Given the description of an element on the screen output the (x, y) to click on. 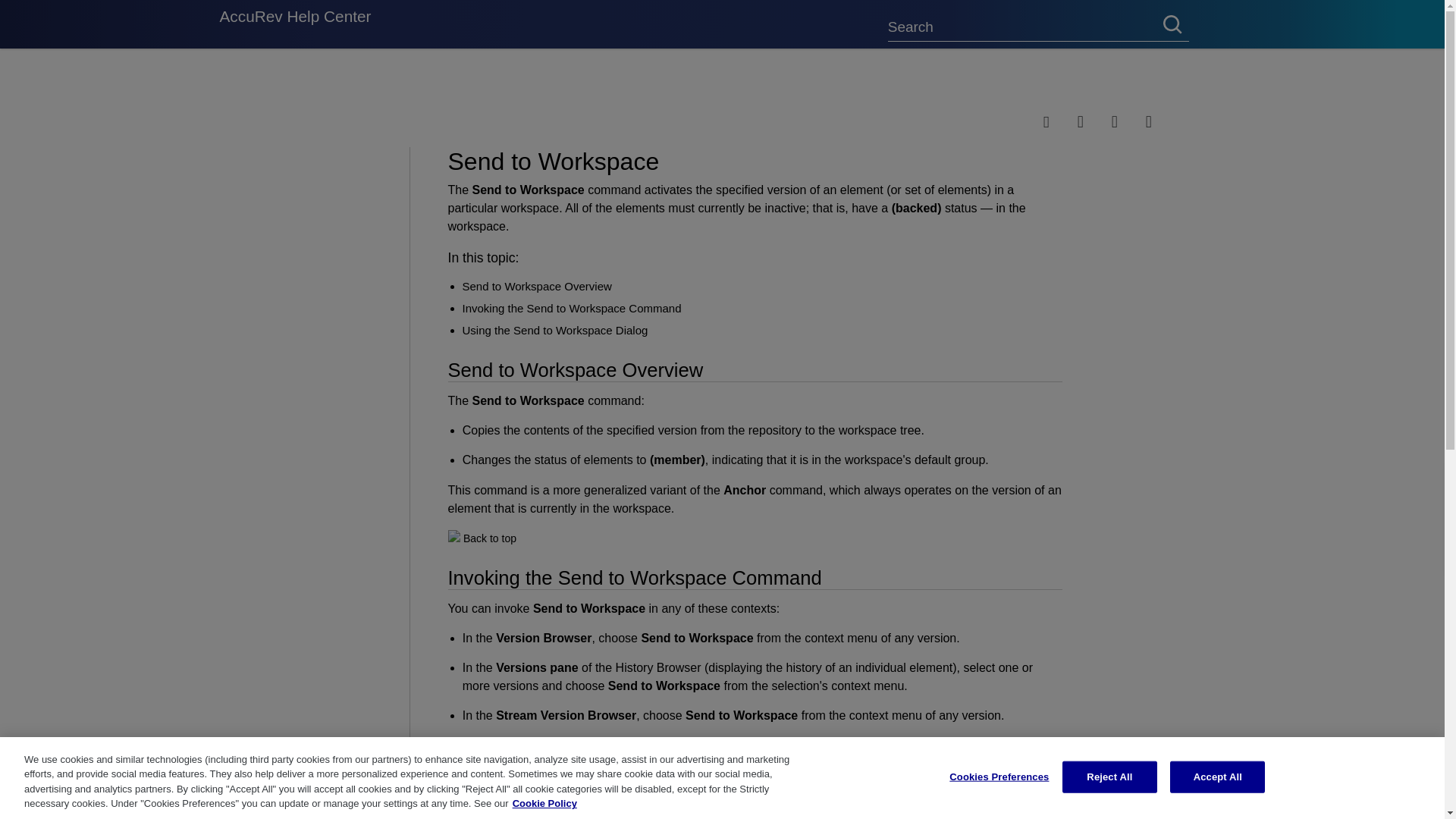
AccuRev Help Center (295, 24)
Print the current topic (1162, 121)
Back to top (489, 538)
Using the Send to Workspace Dialog (555, 329)
Expand all dropdowns (1094, 121)
All versions (249, 83)
Share page (1060, 121)
Send to Workspace Overview (537, 286)
Remove all search highlights (1128, 121)
Invoking the Send to Workspace Command (572, 308)
